Given the description of an element on the screen output the (x, y) to click on. 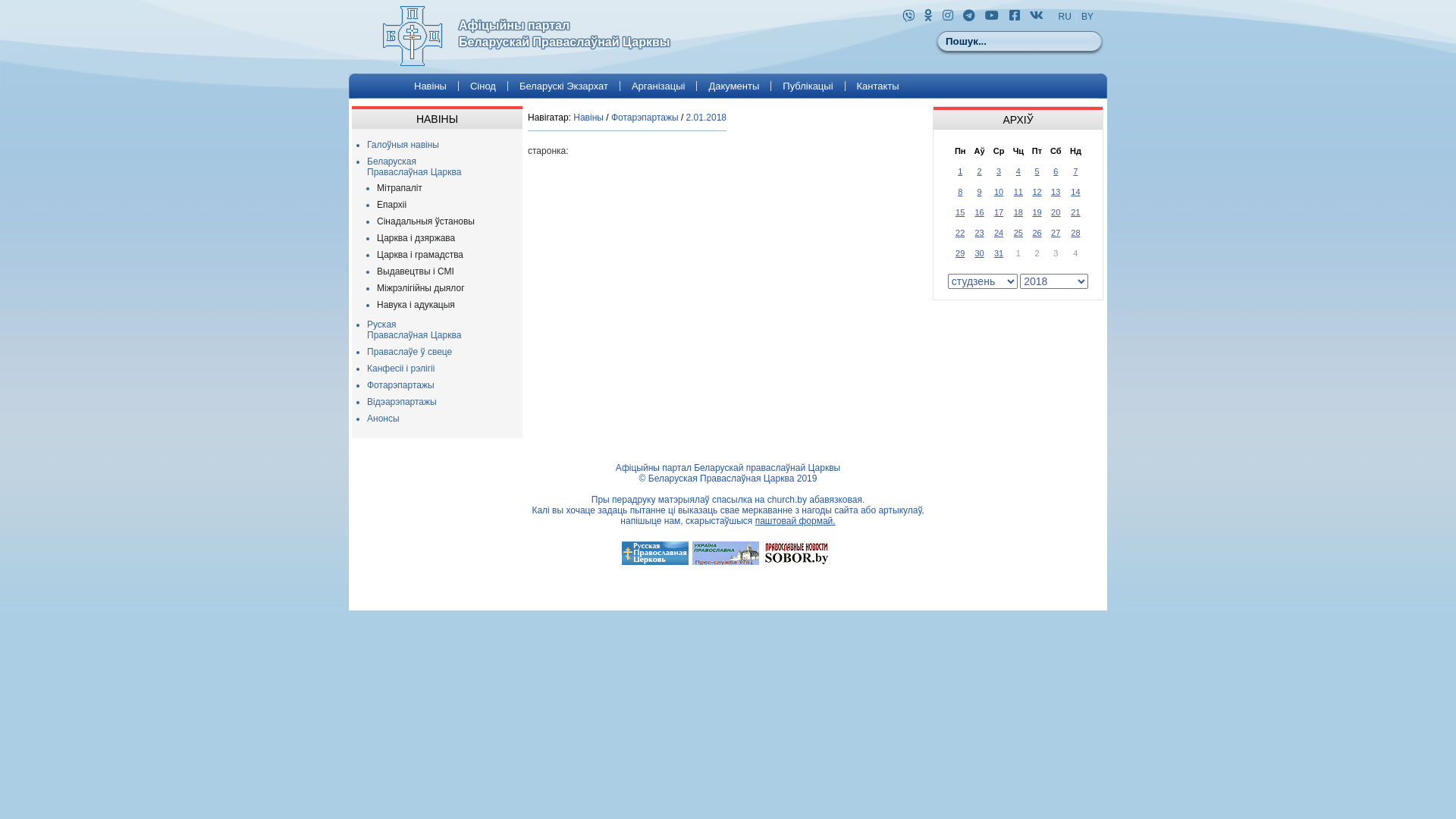
17 Element type: text (998, 211)
18 Element type: text (1017, 211)
23 Element type: text (978, 231)
13 Element type: text (1055, 190)
14 Element type: text (1074, 190)
16 Element type: text (978, 211)
1 Element type: text (959, 170)
3 Element type: text (998, 170)
31 Element type: text (998, 252)
20 Element type: text (1055, 211)
22 Element type: text (959, 231)
8 Element type: text (959, 190)
24 Element type: text (998, 231)
2.01.2018 Element type: text (706, 117)
10 Element type: text (998, 190)
15 Element type: text (959, 211)
6 Element type: text (1055, 170)
church.by Element type: text (786, 499)
9 Element type: text (978, 190)
19 Element type: text (1036, 211)
27 Element type: text (1055, 231)
4 Element type: text (1018, 170)
26 Element type: text (1036, 231)
2 Element type: text (978, 170)
29 Element type: text (959, 252)
28 Element type: text (1074, 231)
RU Element type: text (1064, 16)
30 Element type: text (978, 252)
25 Element type: text (1017, 231)
5 Element type: text (1036, 170)
11 Element type: text (1017, 190)
BY Element type: text (1087, 16)
7 Element type: text (1075, 170)
21 Element type: text (1074, 211)
12 Element type: text (1036, 190)
